Given the description of an element on the screen output the (x, y) to click on. 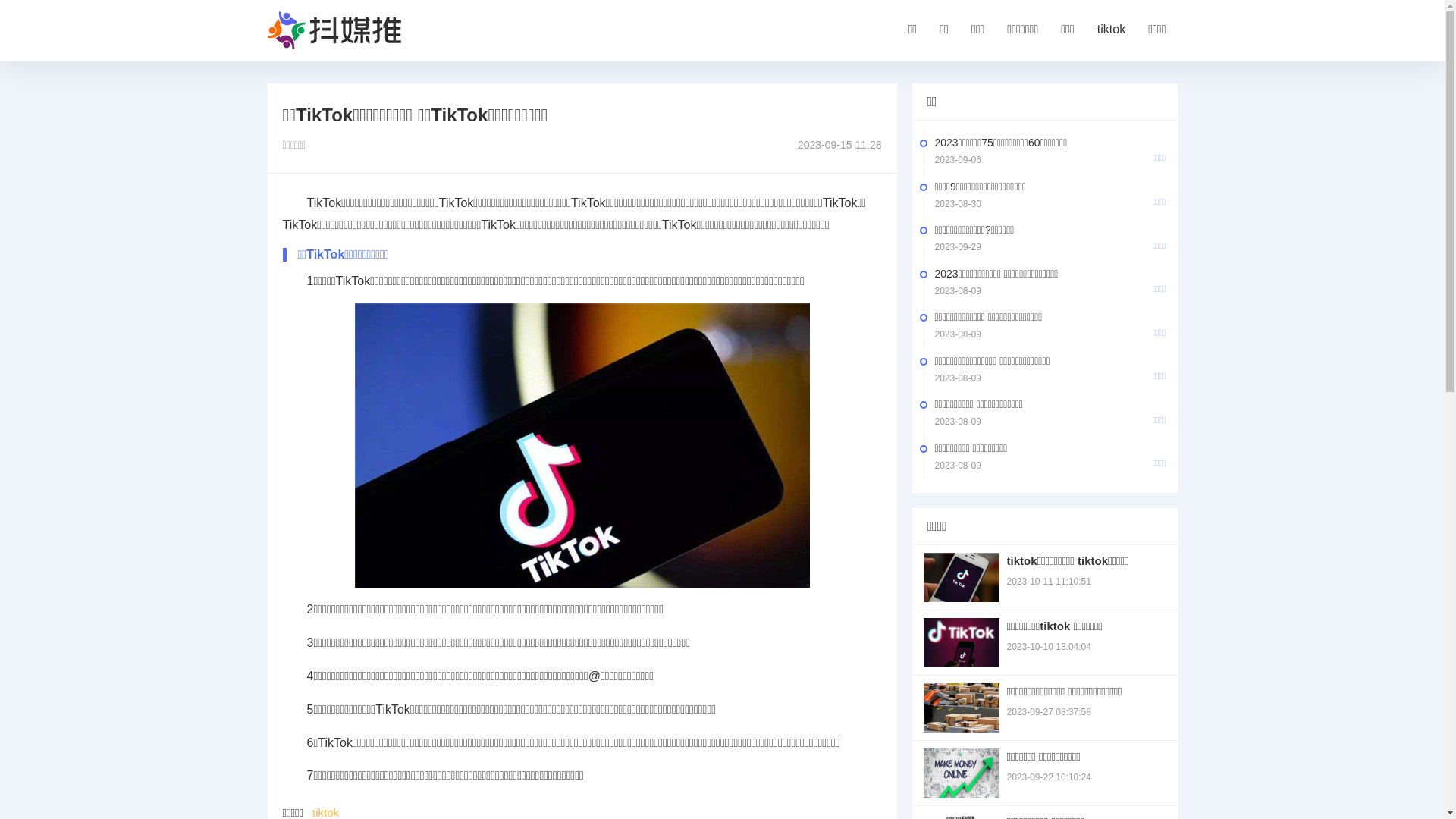
tiktok Element type: text (1111, 30)
